Given the description of an element on the screen output the (x, y) to click on. 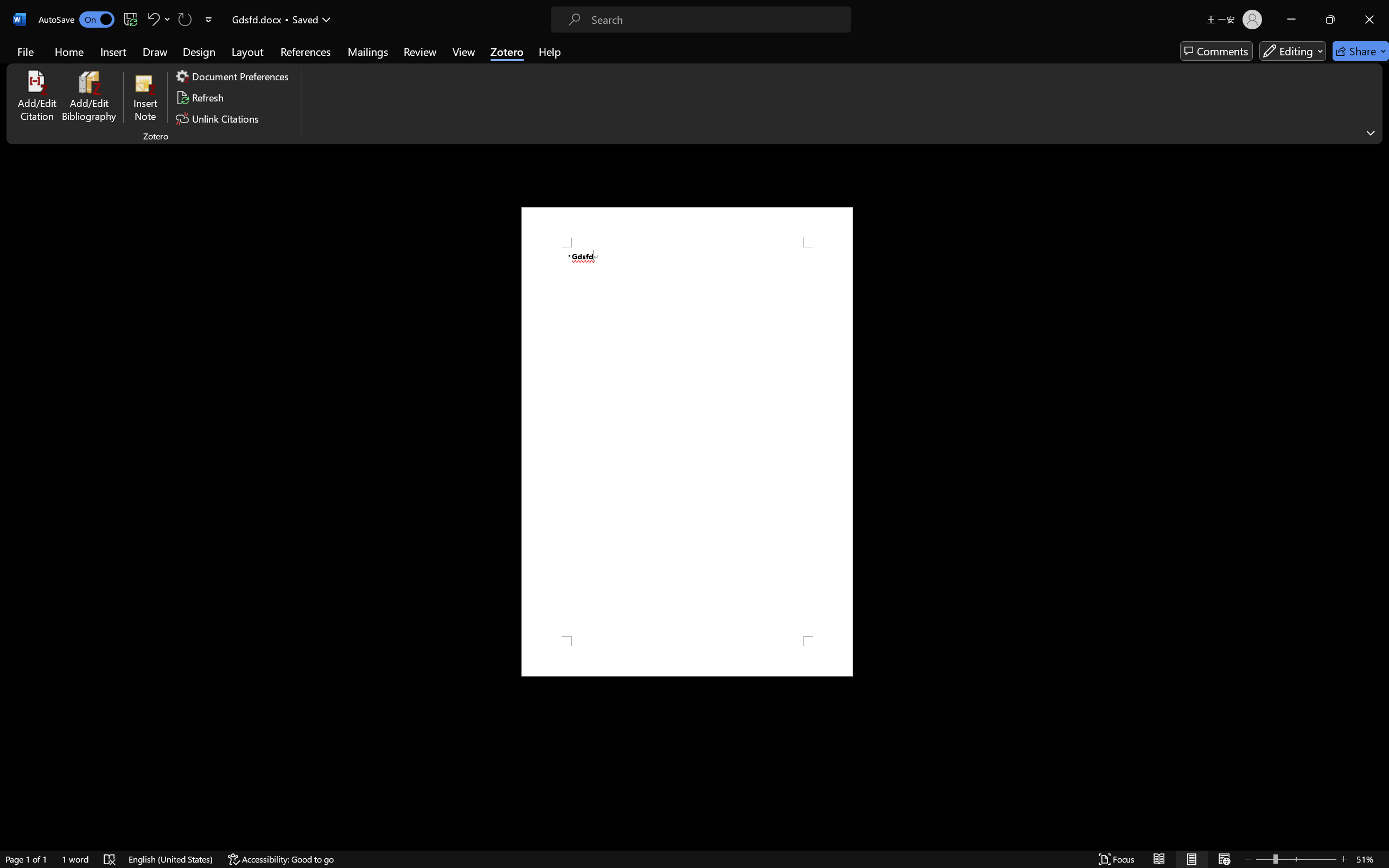
Page 1 content (686, 441)
